Given the description of an element on the screen output the (x, y) to click on. 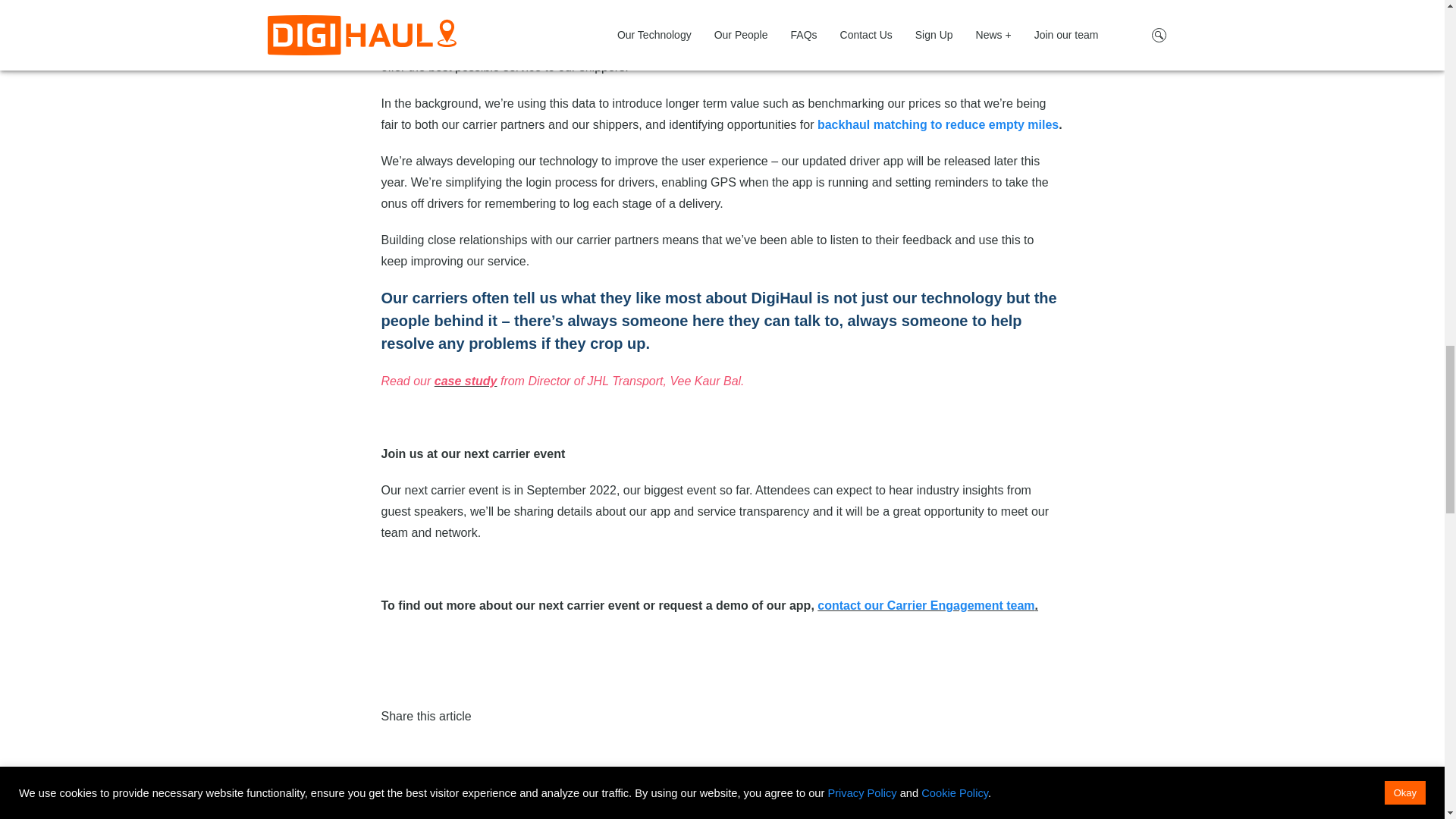
contact our Carrier Engagement team (924, 604)
backhaul matching to reduce empty miles (937, 124)
case study (465, 380)
